Given the description of an element on the screen output the (x, y) to click on. 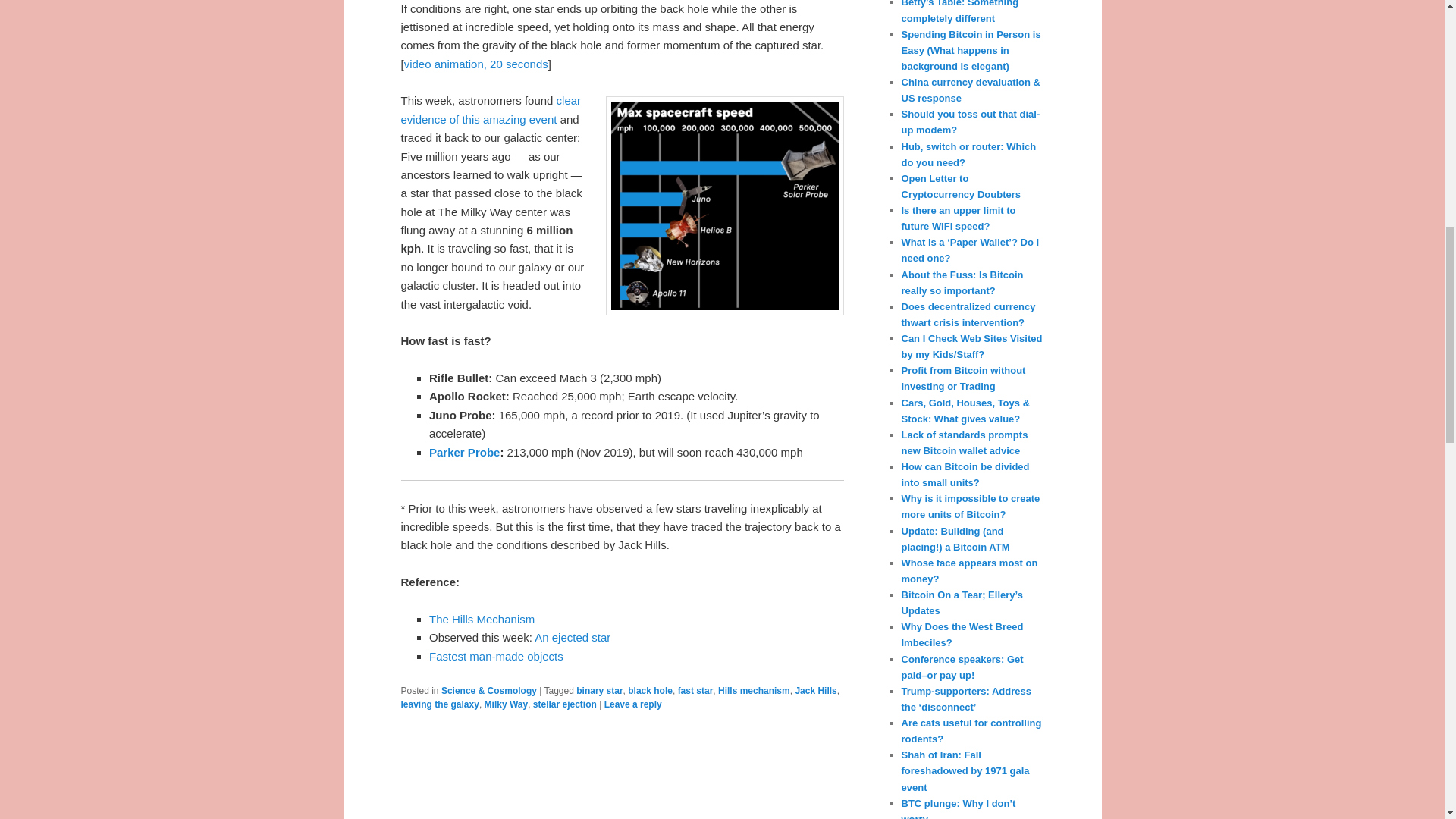
Jack Hills (814, 690)
black hole (649, 690)
video animation, 20 seconds (476, 63)
Parker Probe (464, 451)
An ejected star (572, 636)
binary star (599, 690)
leaving the galaxy (439, 704)
fast star (695, 690)
clear evidence of this amazing event (490, 109)
Hills mechanism (753, 690)
